Given the description of an element on the screen output the (x, y) to click on. 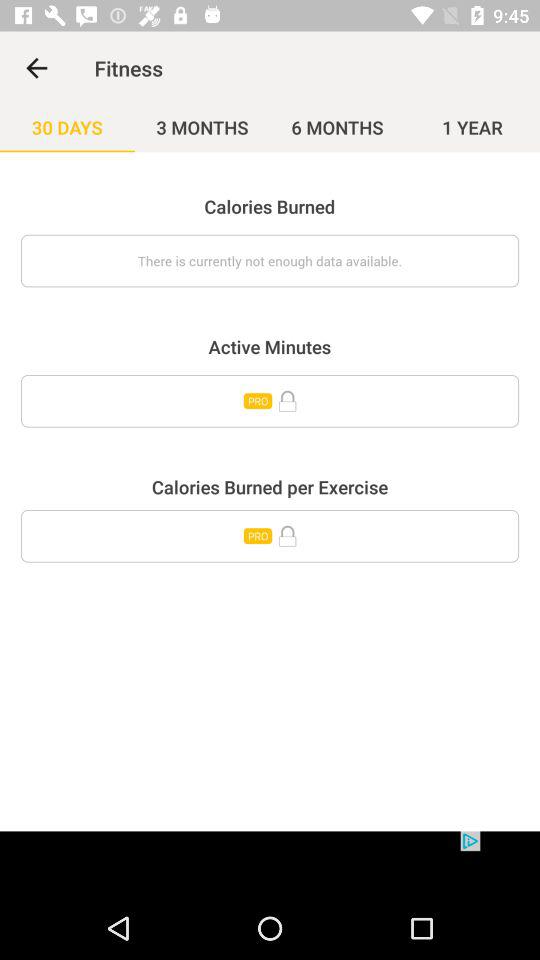
launch the item to the left of the fitness (36, 68)
